Given the description of an element on the screen output the (x, y) to click on. 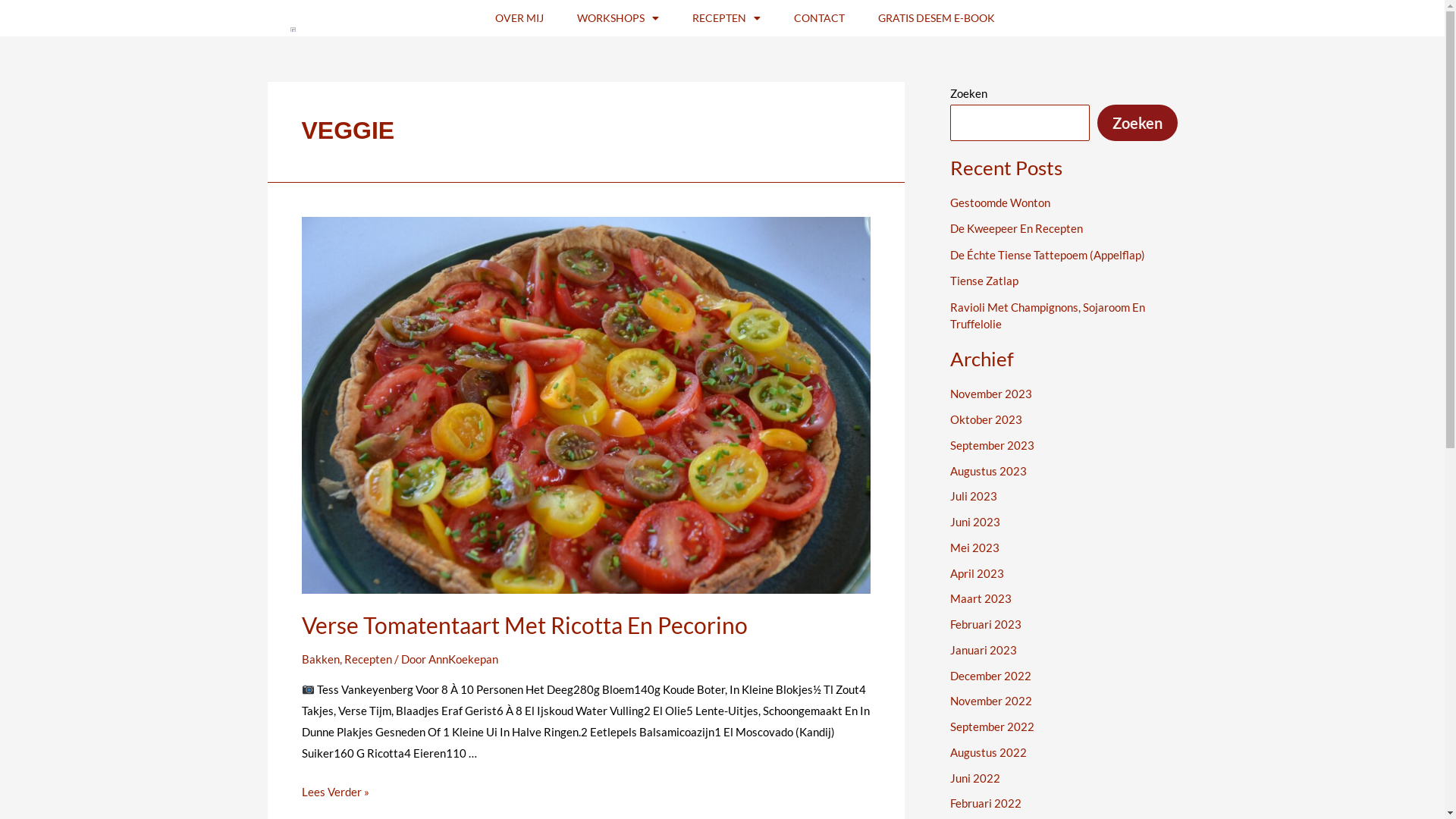
Mei 2023 Element type: text (973, 547)
November 2023 Element type: text (990, 393)
Januari 2023 Element type: text (982, 649)
September 2022 Element type: text (991, 726)
De Kweepeer En Recepten Element type: text (1015, 228)
Zoeken Element type: text (1136, 122)
Maart 2023 Element type: text (979, 598)
Juni 2023 Element type: text (974, 521)
Juni 2022 Element type: text (974, 777)
Augustus 2023 Element type: text (987, 470)
Tiense Zatlap Element type: text (983, 280)
Recepten Element type: text (368, 658)
November 2022 Element type: text (990, 700)
WORKSHOPS Element type: text (616, 18)
GRATIS DESEM E-BOOK Element type: text (936, 18)
AnnKoekepan Element type: text (462, 658)
September 2023 Element type: text (991, 444)
RECEPTEN Element type: text (725, 18)
Februari 2023 Element type: text (984, 623)
April 2023 Element type: text (976, 573)
Bakken Element type: text (320, 658)
Oktober 2023 Element type: text (985, 419)
Juli 2023 Element type: text (972, 495)
OVER MIJ Element type: text (518, 18)
December 2022 Element type: text (989, 675)
Ravioli Met Champignons, Sojaroom En Truffelolie Element type: text (1046, 315)
Verse Tomatentaart Met Ricotta En Pecorino Element type: text (524, 624)
Augustus 2022 Element type: text (987, 752)
Gestoomde Wonton Element type: text (999, 202)
Februari 2022 Element type: text (984, 802)
CONTACT Element type: text (818, 18)
